Given the description of an element on the screen output the (x, y) to click on. 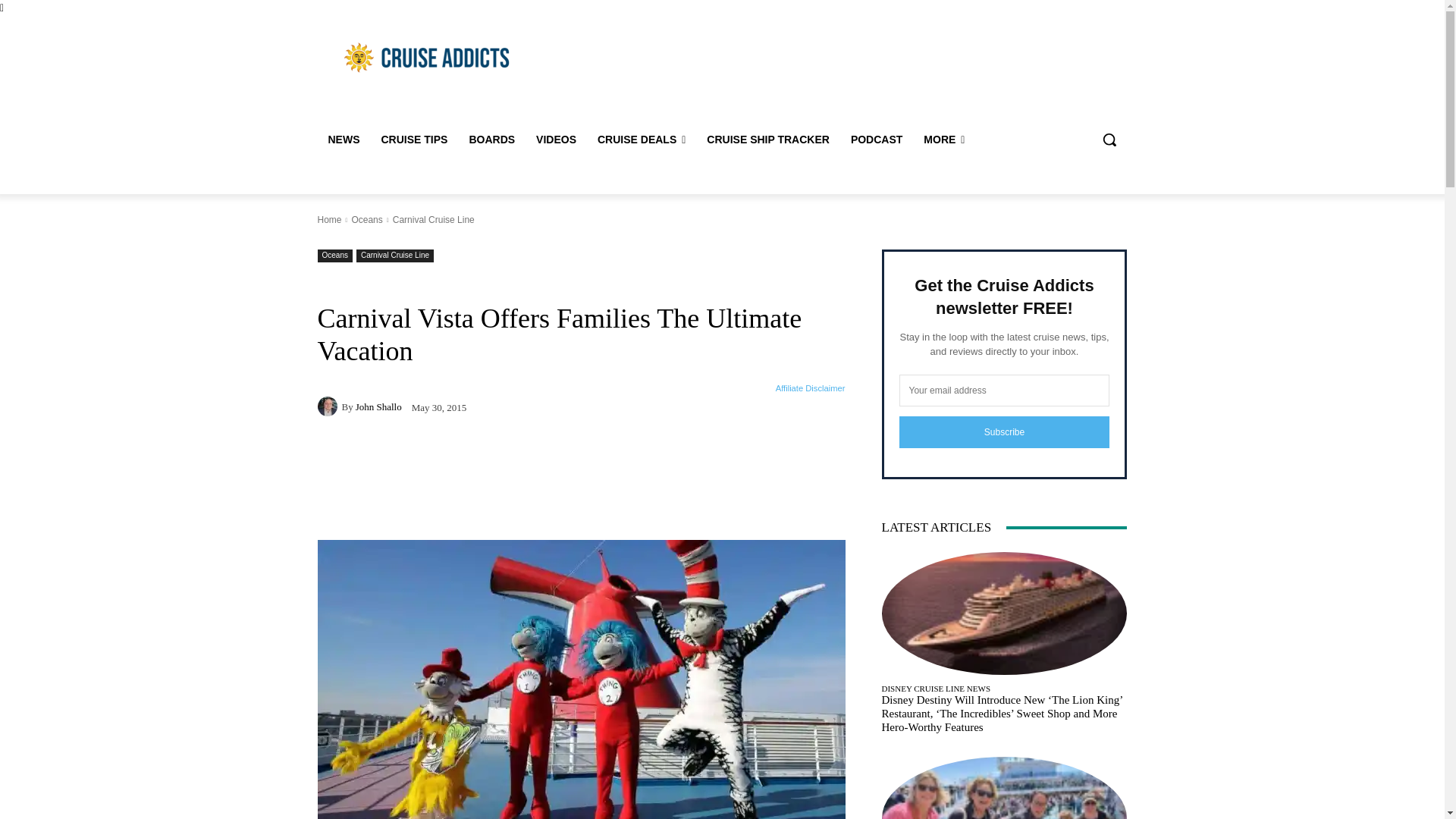
Videos (555, 139)
Cruise Tips (413, 139)
News (343, 139)
CRUISE TIPS (413, 139)
NEWS (343, 139)
BOARDS (491, 139)
VIDEOS (555, 139)
CRUISE DEALS (640, 139)
